Given the description of an element on the screen output the (x, y) to click on. 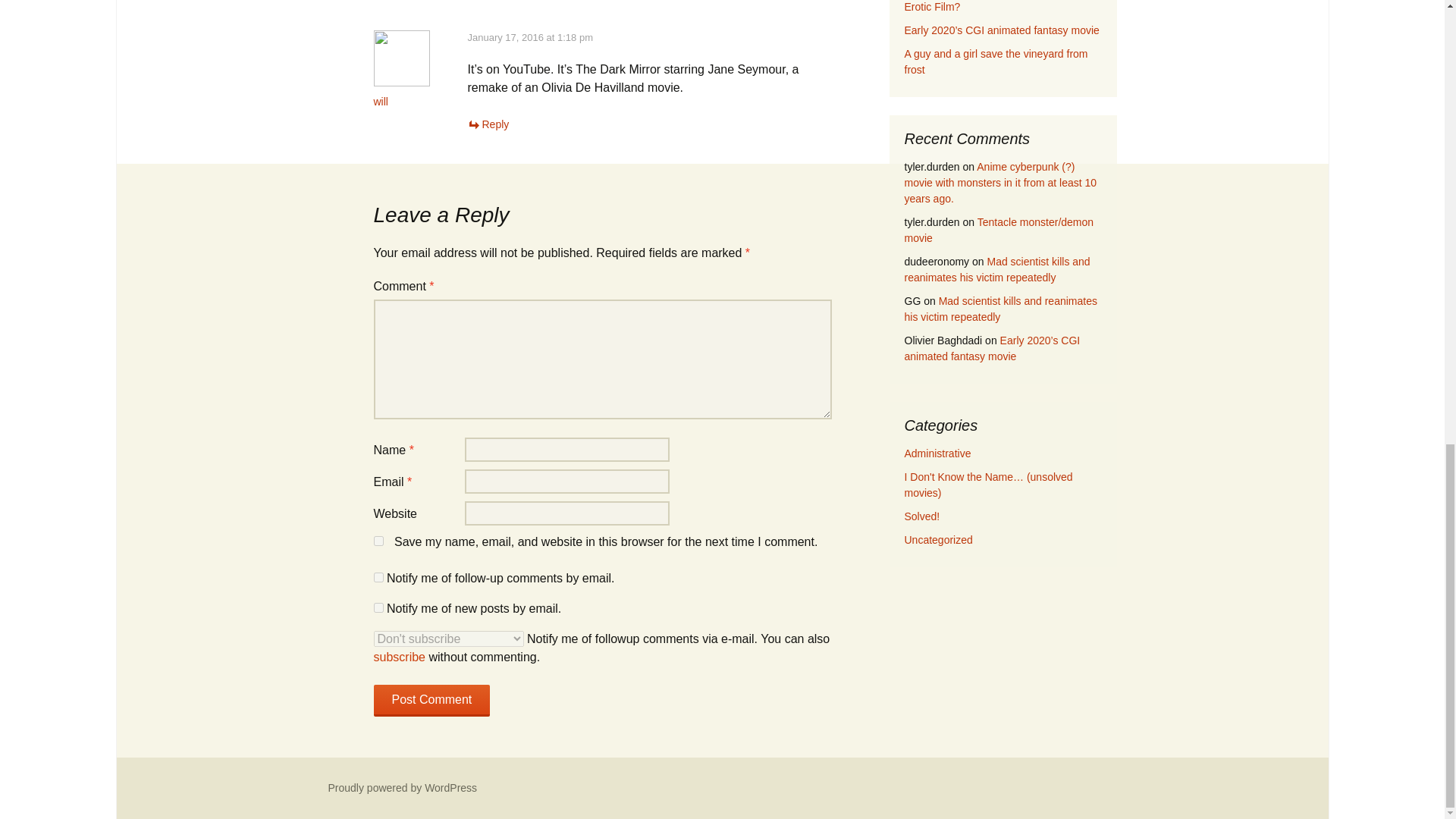
subscribe (398, 656)
Erotic Film? (931, 6)
Mad scientist kills and reanimates his victim repeatedly (1000, 308)
Proudly powered by WordPress (402, 787)
subscribe (377, 577)
A guy and a girl save the vineyard from frost (995, 61)
January 17, 2016 at 1:18 pm (529, 37)
Mad scientist kills and reanimates his victim repeatedly (996, 269)
Uncategorized (938, 539)
Post Comment (430, 700)
